Given the description of an element on the screen output the (x, y) to click on. 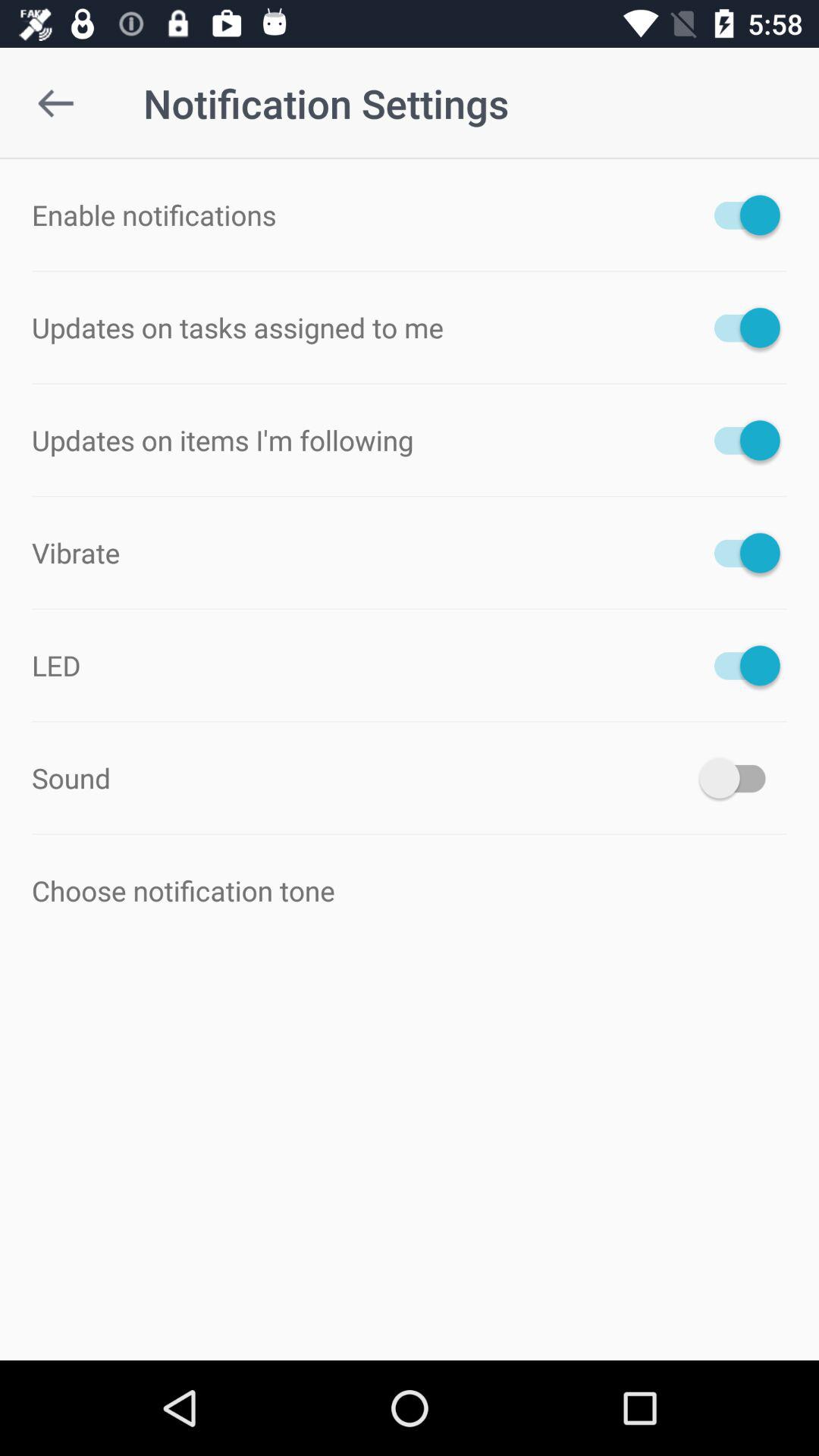
toggle updates on items i 'm following (739, 439)
